Given the description of an element on the screen output the (x, y) to click on. 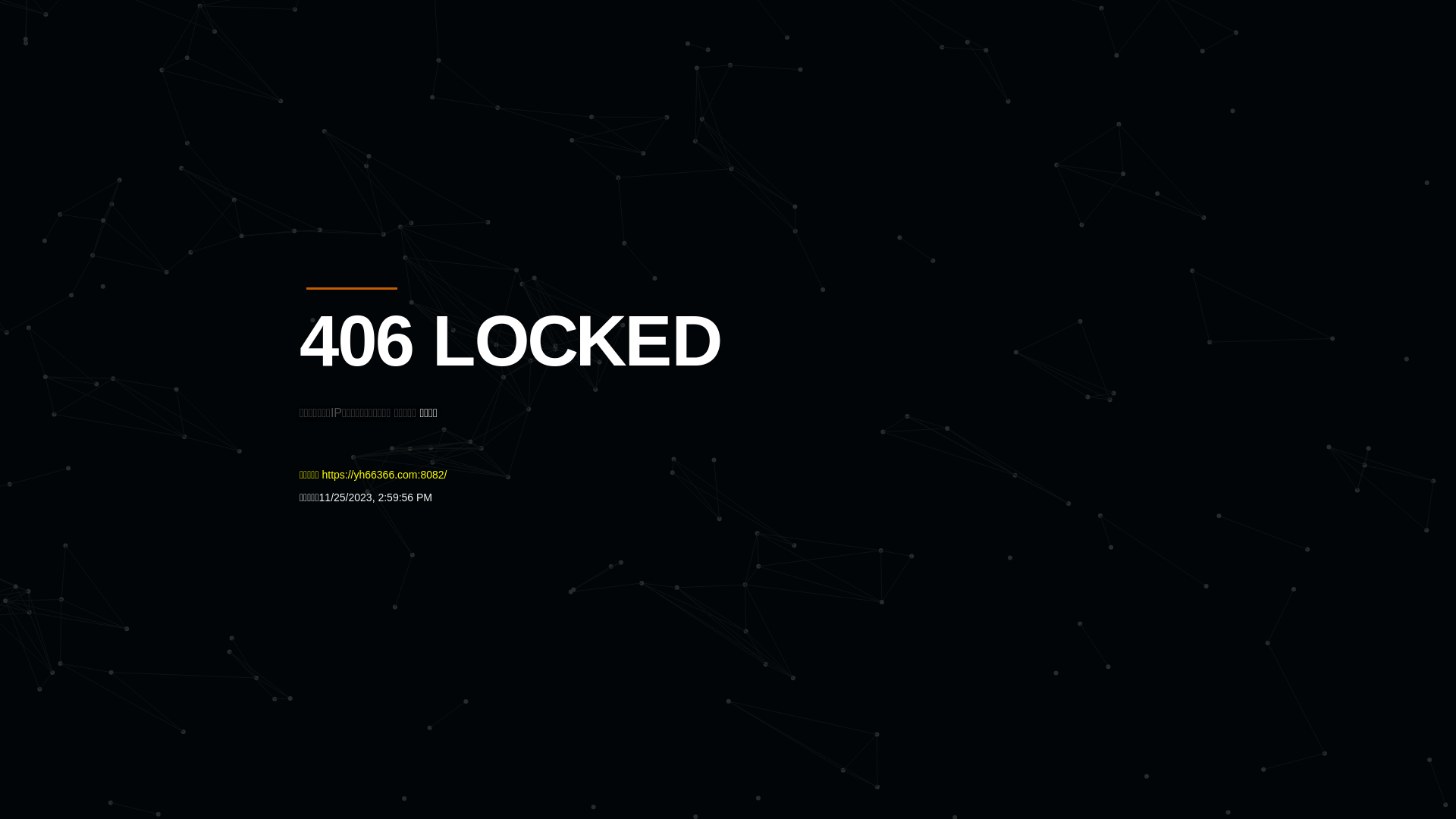
Quatro Element type: text (410, 86)
